Given the description of an element on the screen output the (x, y) to click on. 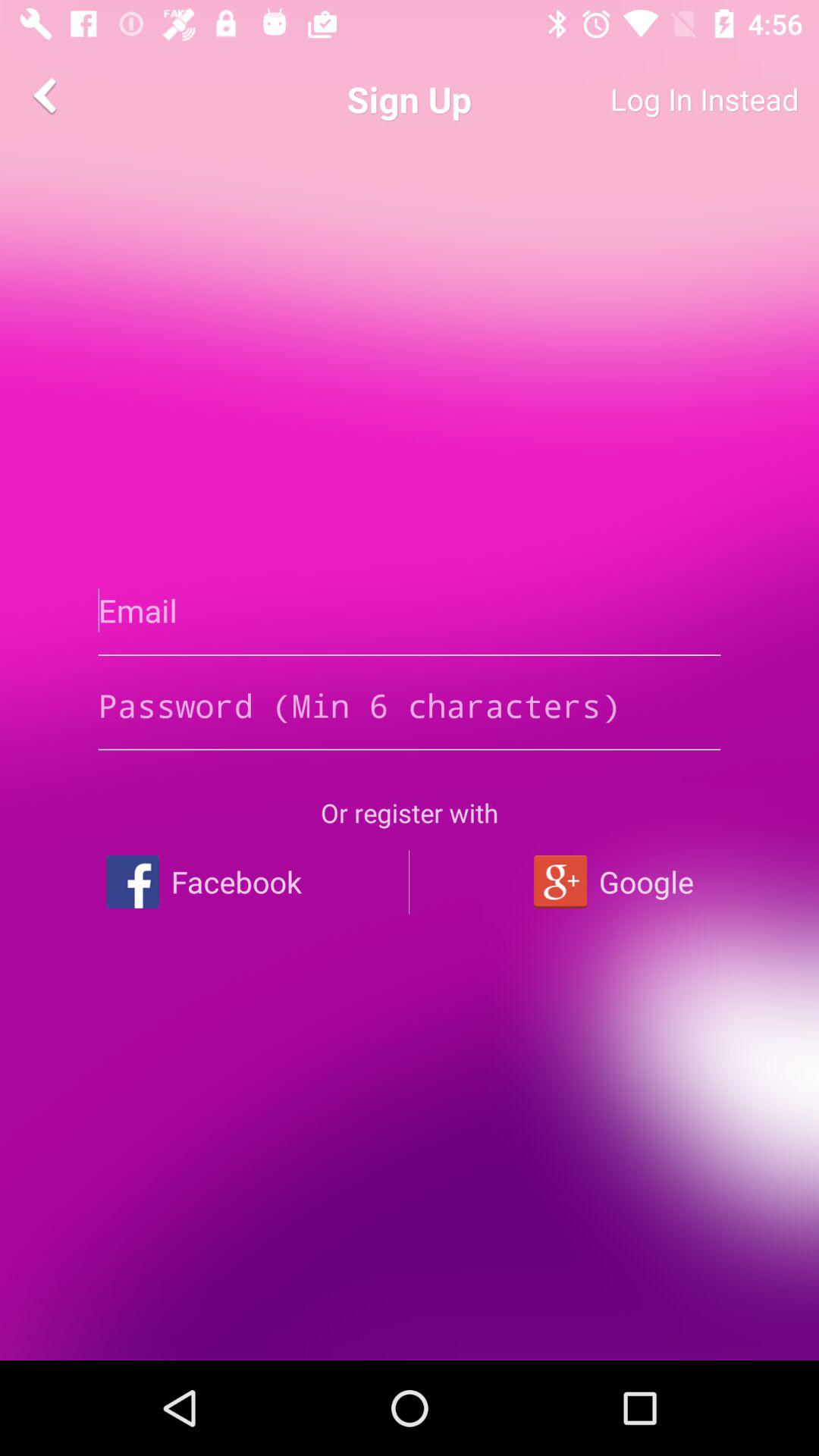
turn off the item at the top left corner (47, 95)
